Given the description of an element on the screen output the (x, y) to click on. 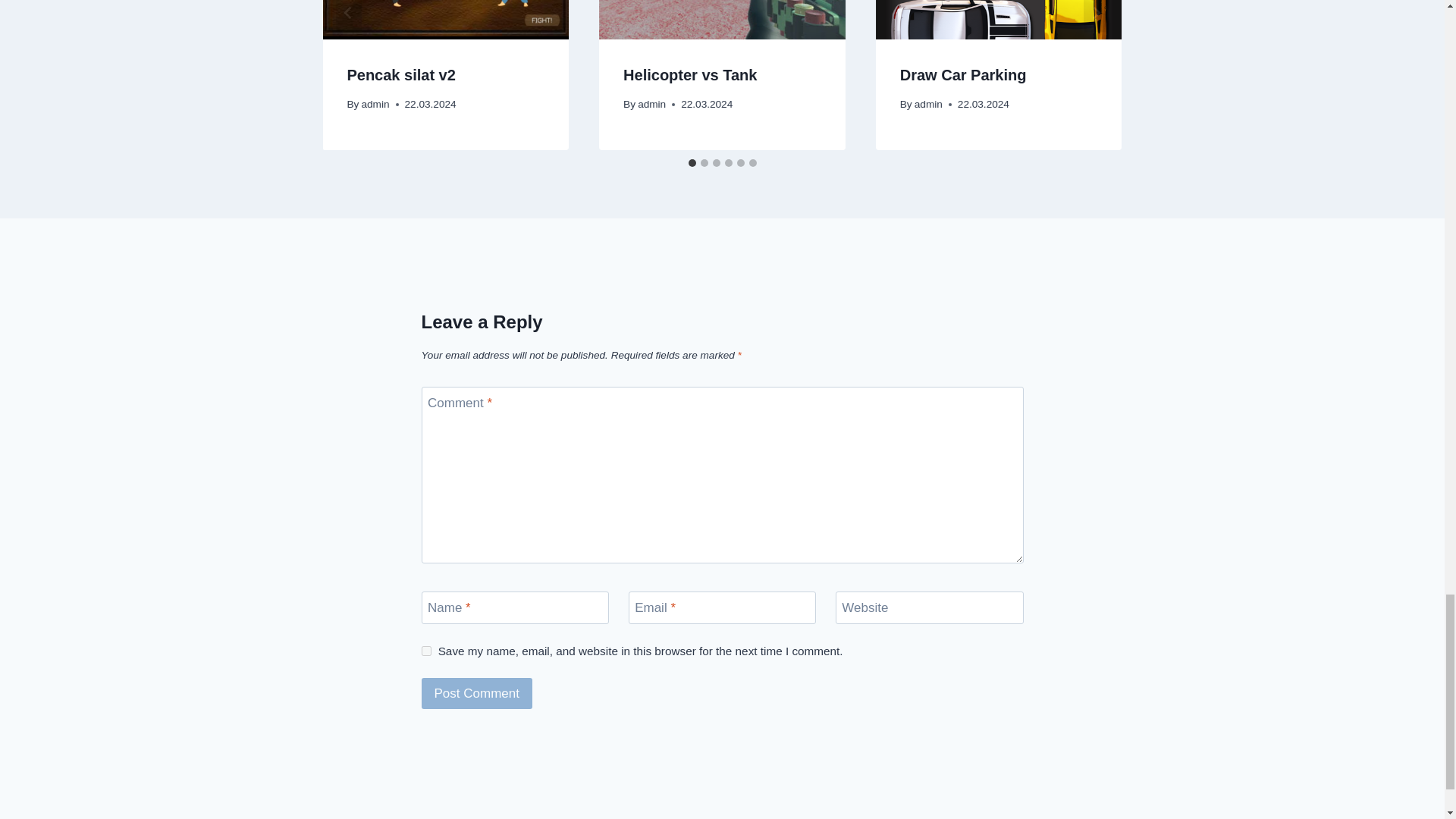
yes (426, 651)
Post Comment (477, 693)
